Given the description of an element on the screen output the (x, y) to click on. 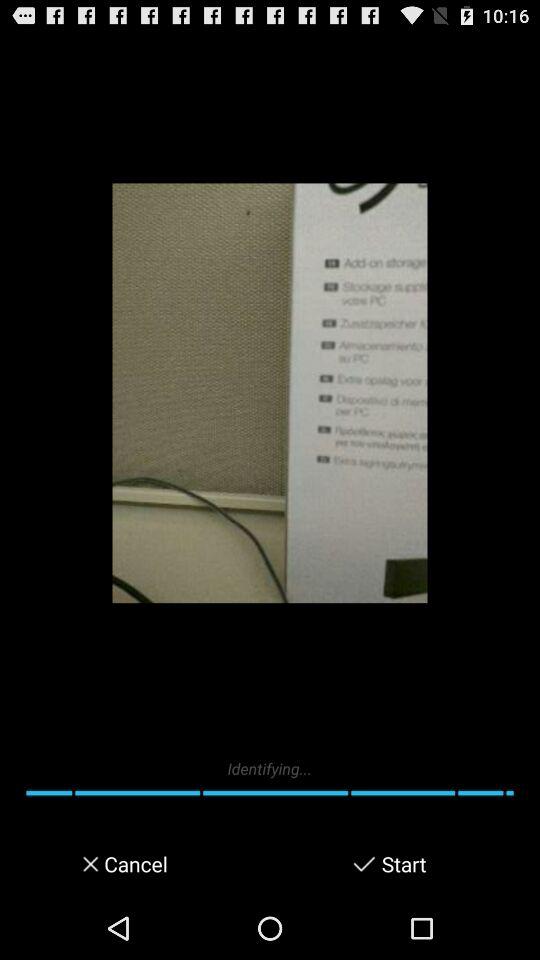
launch the app next to cancel icon (363, 863)
